Given the description of an element on the screen output the (x, y) to click on. 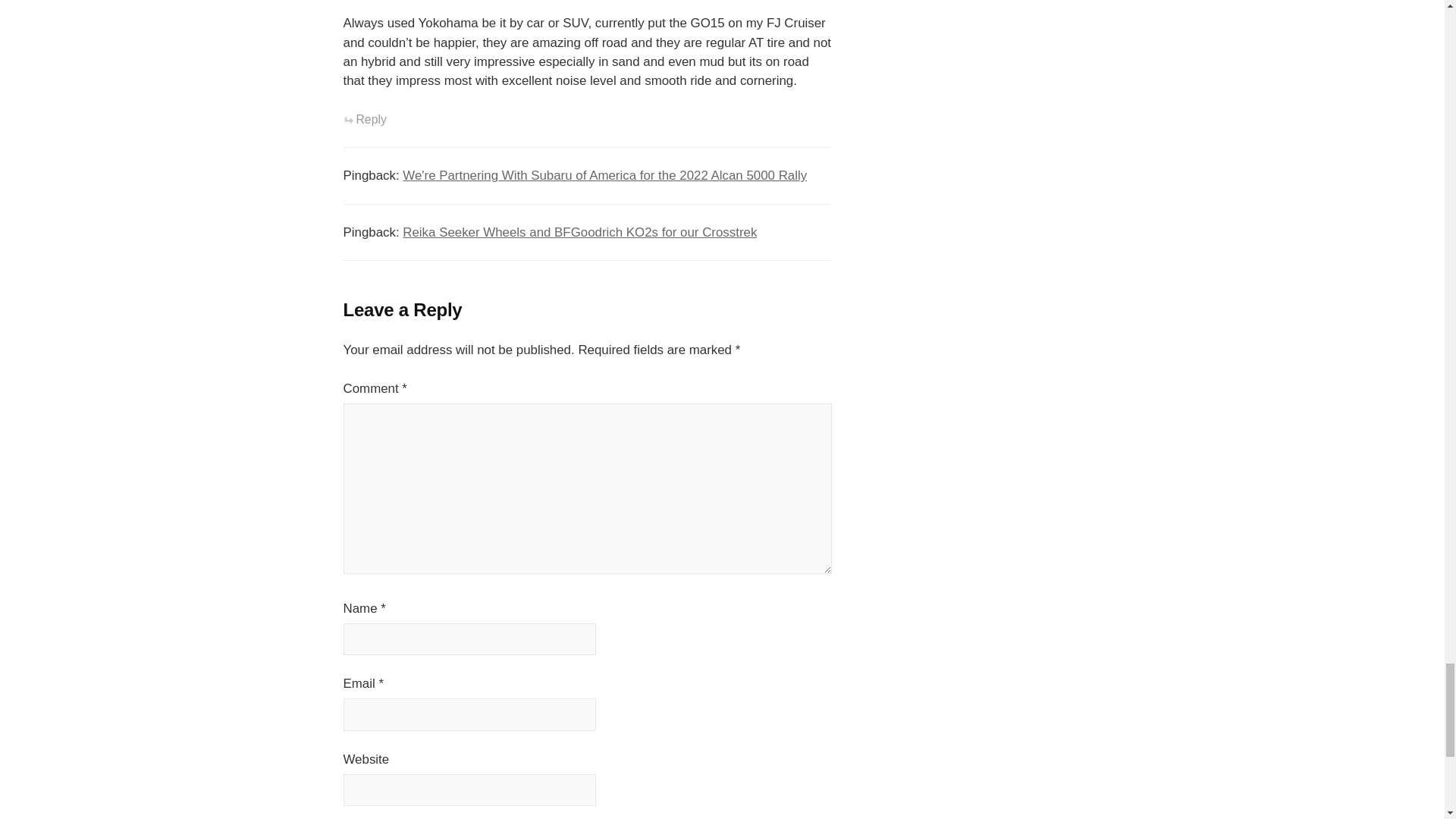
Reika Seeker Wheels and BFGoodrich KO2s for our Crosstrek (580, 232)
Reply (363, 119)
